Given the description of an element on the screen output the (x, y) to click on. 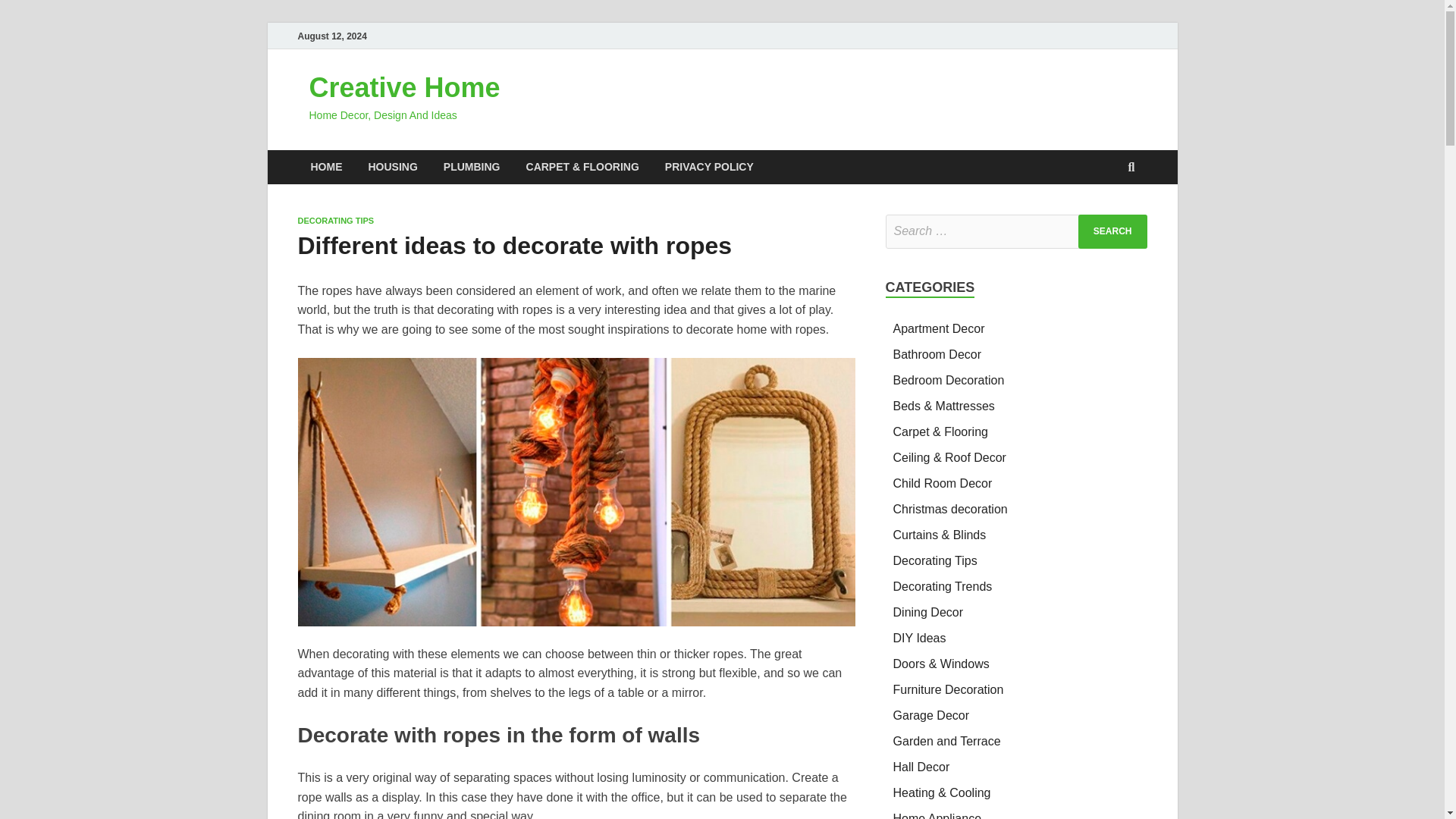
DECORATING TIPS (335, 220)
HOME (326, 166)
HOUSING (392, 166)
Creative Home (404, 87)
Child Room Decor (942, 482)
Christmas decoration (950, 508)
Search (1112, 231)
PLUMBING (471, 166)
Decorating Tips (934, 560)
Bedroom Decoration (948, 379)
